Given the description of an element on the screen output the (x, y) to click on. 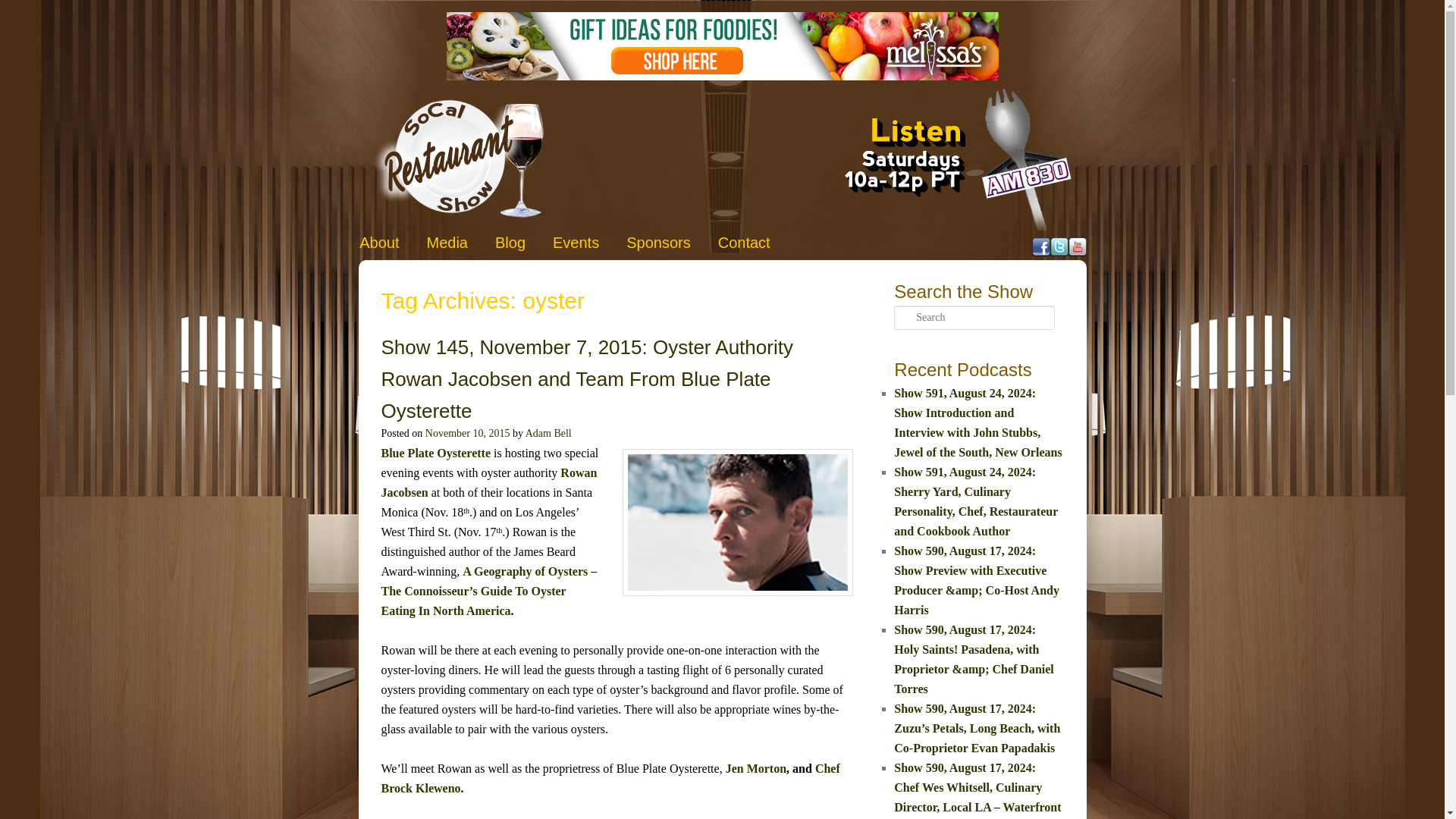
Adam Bell (548, 432)
Media Gallery (447, 242)
Blue Plate Oysterette (435, 452)
SoCal Restaurant Show Blog (509, 242)
Sponsors (658, 242)
Skip to primary content (426, 240)
YouTube (1076, 247)
